Given the description of an element on the screen output the (x, y) to click on. 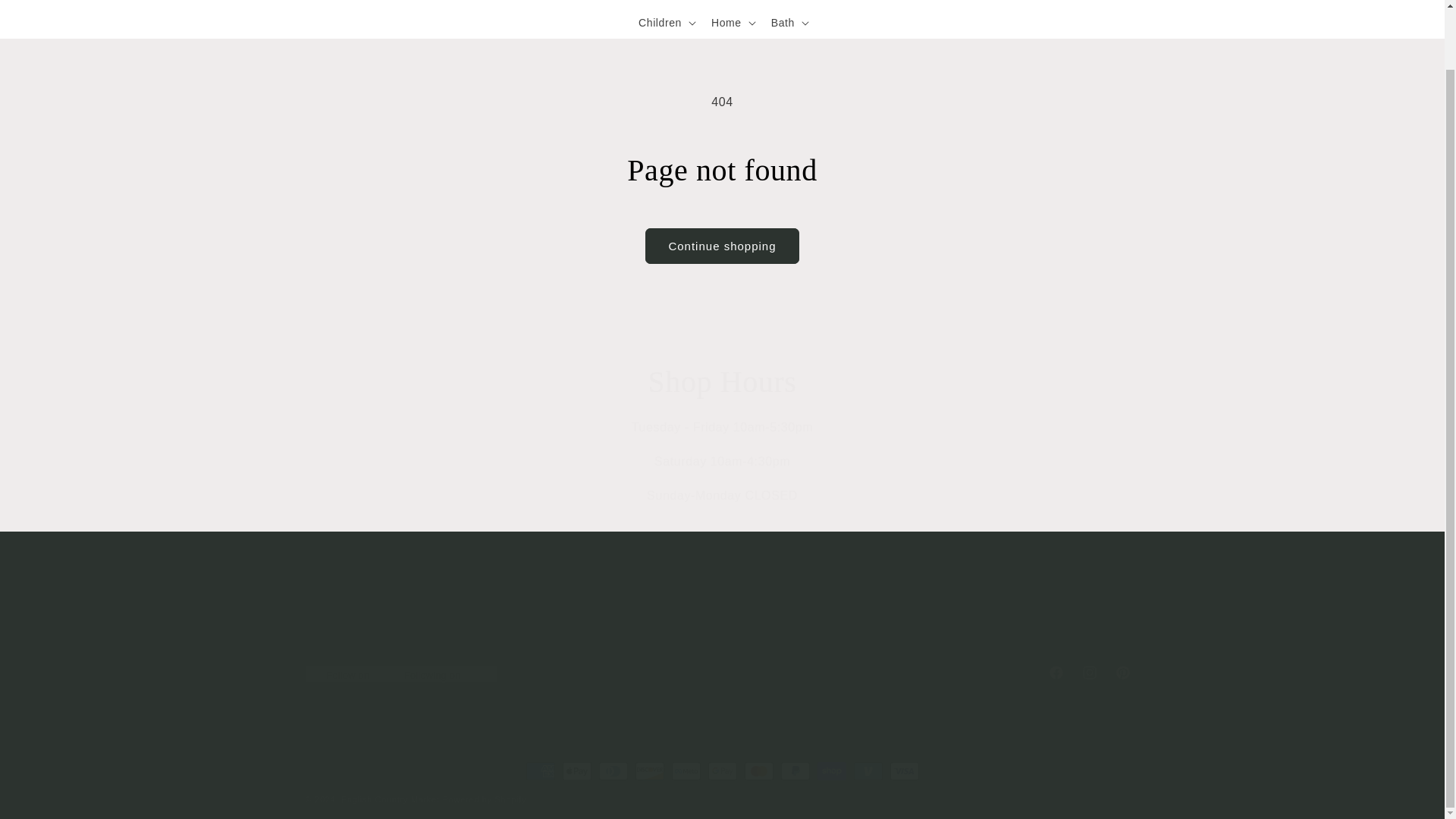
Shop Hours (721, 672)
